Given the description of an element on the screen output the (x, y) to click on. 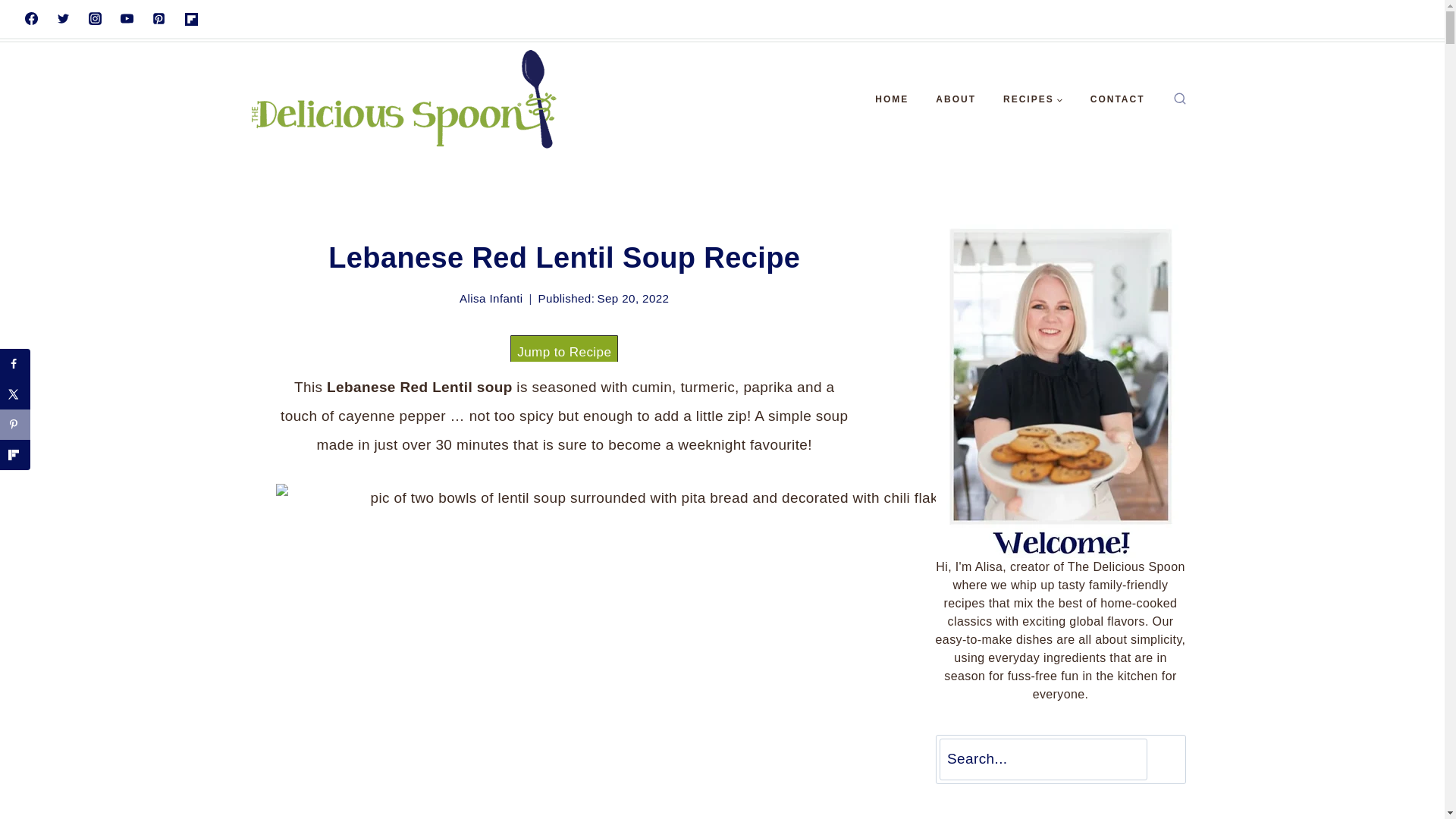
Save to Pinterest (15, 424)
Jump to Recipe (564, 352)
Share on X (15, 394)
ABOUT (955, 99)
Share on Facebook (15, 363)
Share on Flipboard (15, 454)
RECIPES (1033, 99)
CONTACT (1117, 99)
HOME (891, 99)
Alisa Infanti (491, 297)
